Given the description of an element on the screen output the (x, y) to click on. 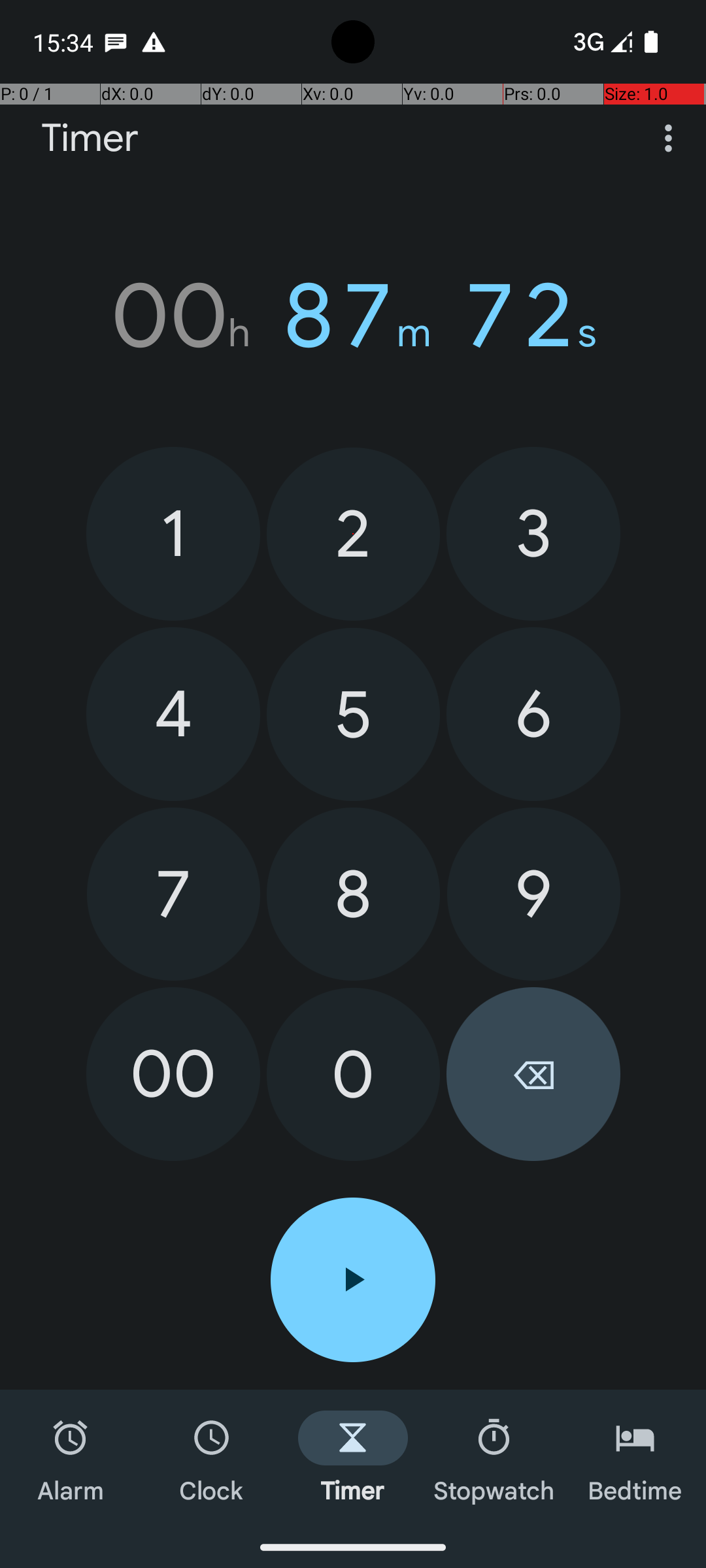
00h 87m 72s Element type: android.widget.TextView (353, 315)
